Given the description of an element on the screen output the (x, y) to click on. 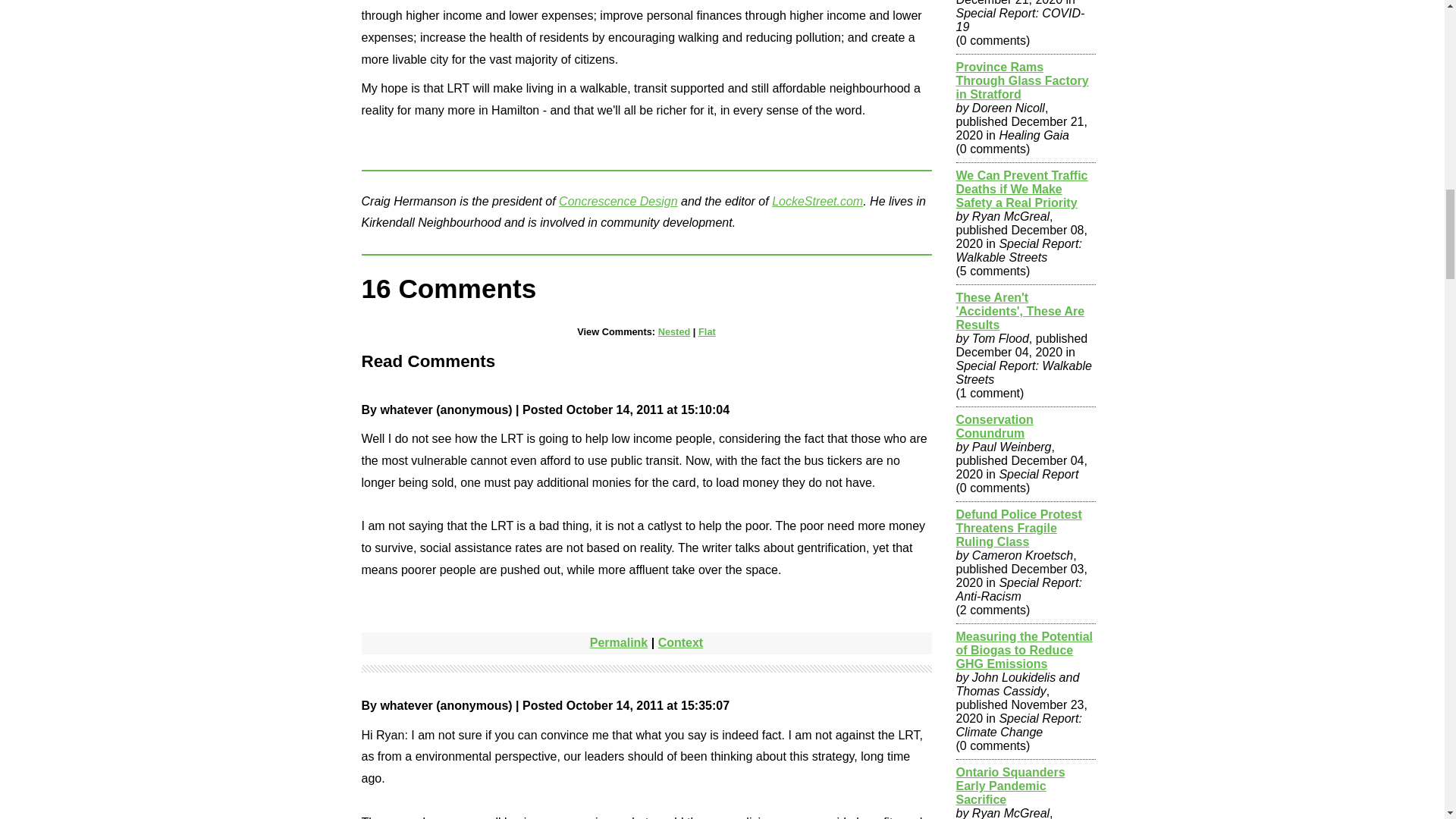
Link to this comment in the comment thread (680, 642)
Context (680, 642)
Flat (707, 331)
Nested (674, 331)
Concrescence Design (618, 200)
Permanent URL for this comment (618, 642)
Permalink (618, 642)
